Given the description of an element on the screen output the (x, y) to click on. 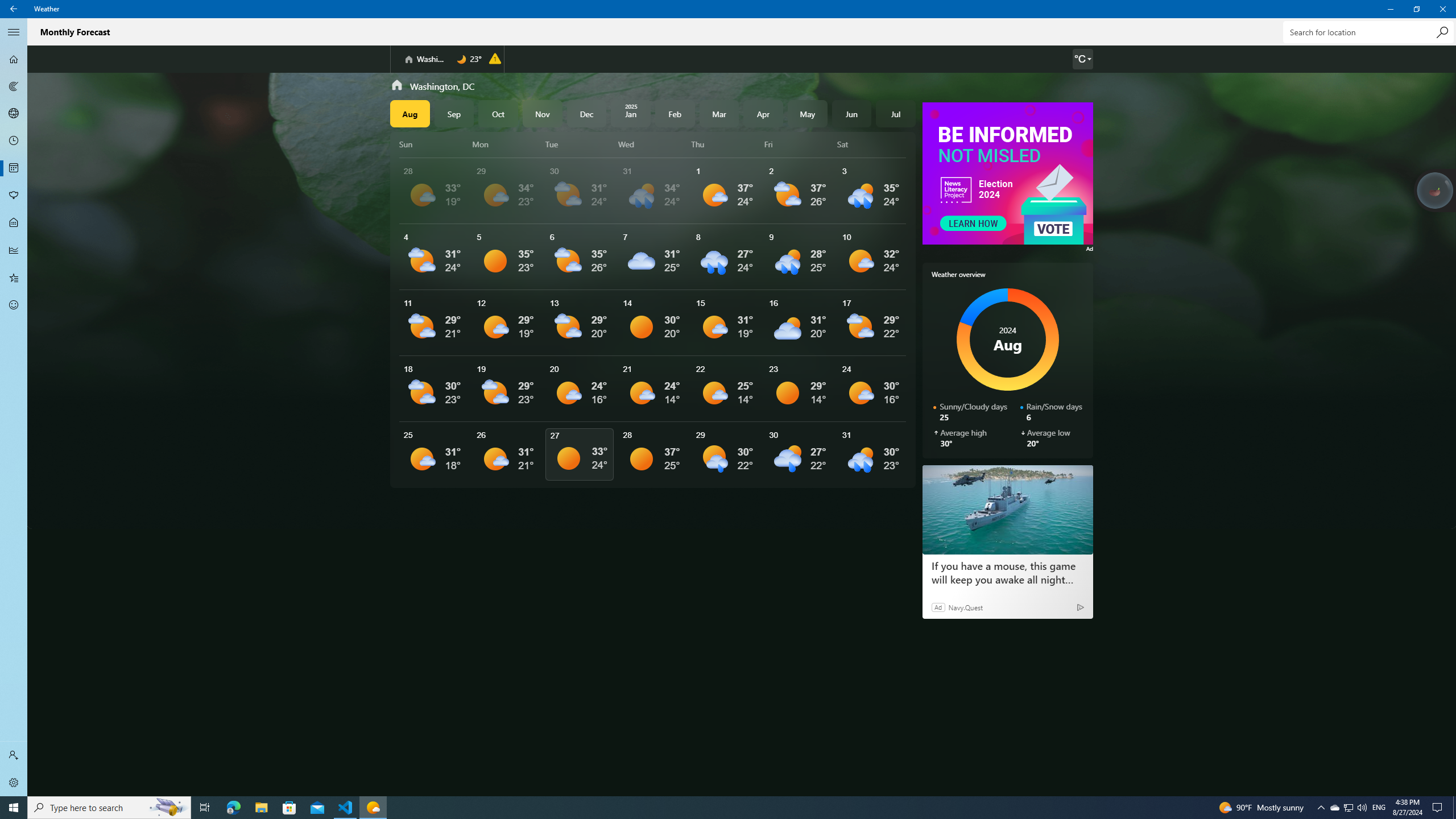
Pollen - Not Selected (13, 195)
Back (13, 9)
Hourly Forecast - Not Selected (13, 140)
Weather - 1 running window (373, 807)
Microsoft Store (289, 807)
Search highlights icon opens search home window (167, 807)
Sign in (13, 755)
Tray Input Indicator - English (United States) (1378, 807)
Close Weather (1442, 9)
Historical Weather - Not Selected (13, 249)
Settings (13, 782)
3D Maps - Not Selected (13, 113)
Task View (204, 807)
Q2790: 100% (1361, 807)
User Promoted Notification Area (1347, 807)
